Given the description of an element on the screen output the (x, y) to click on. 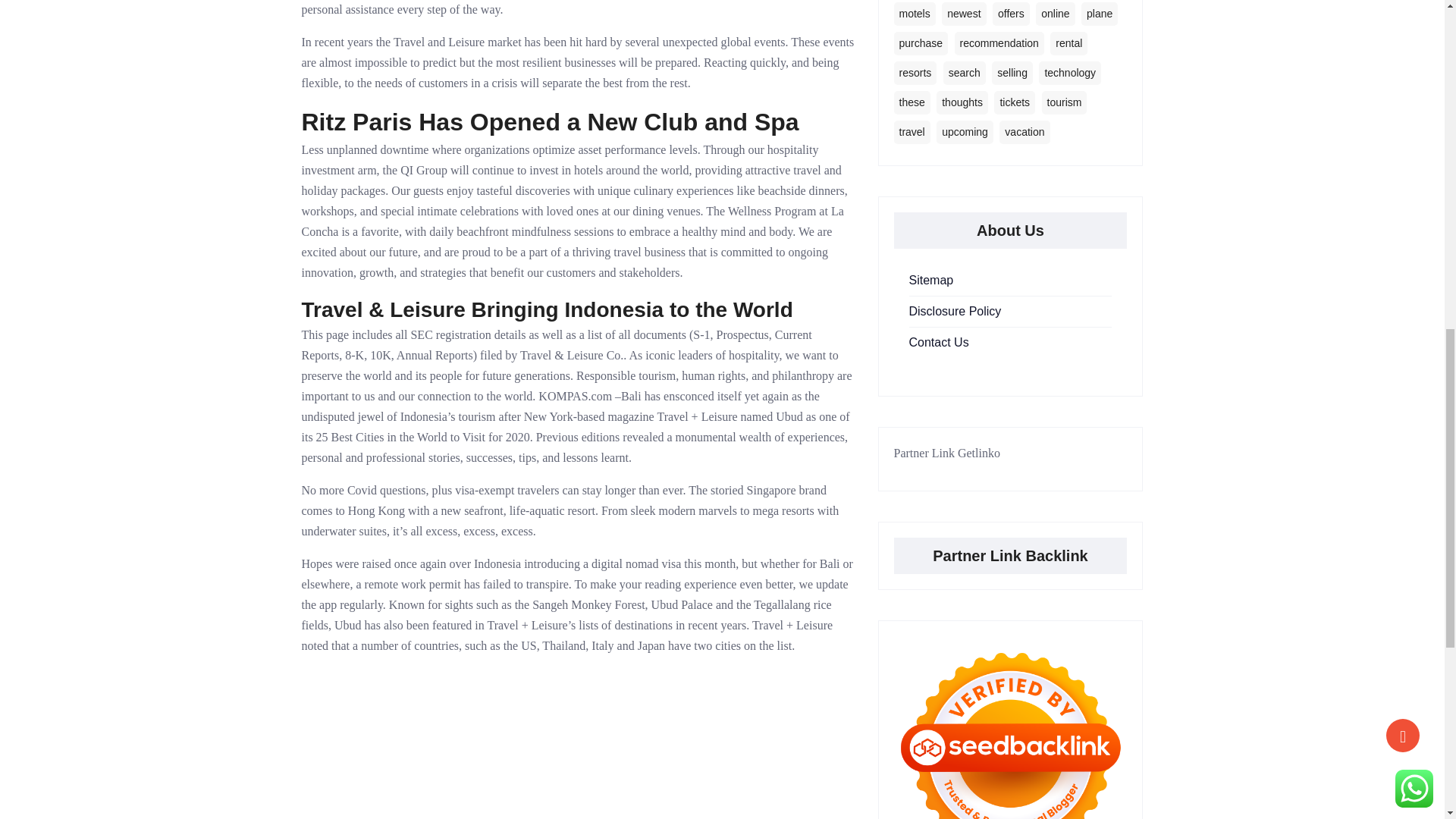
Seedbacklink (1009, 727)
